Given the description of an element on the screen output the (x, y) to click on. 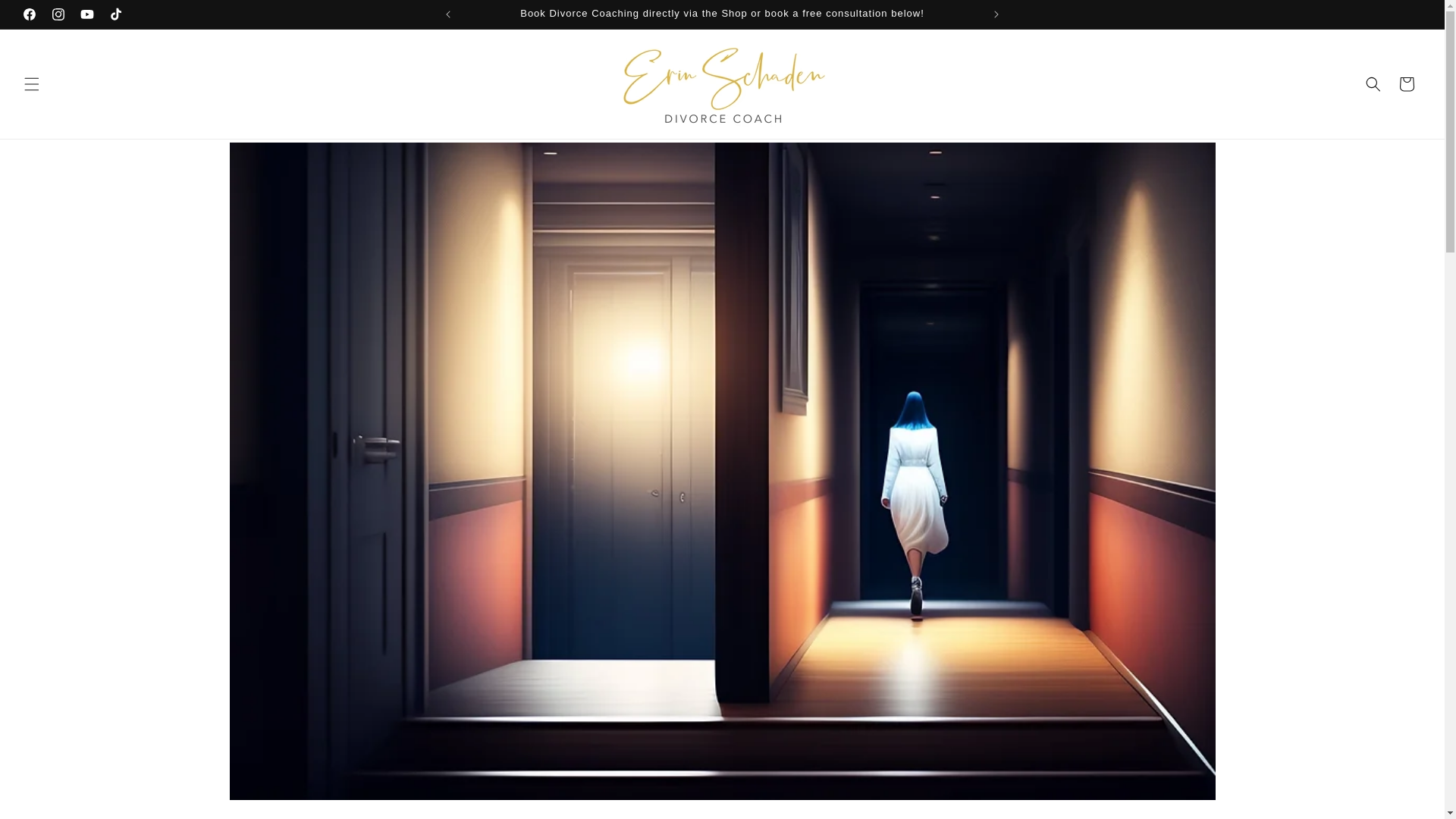
YouTube (86, 14)
Skip to content (45, 17)
Instagram (57, 14)
TikTok (116, 14)
Facebook (28, 14)
Cart (1406, 83)
